Given the description of an element on the screen output the (x, y) to click on. 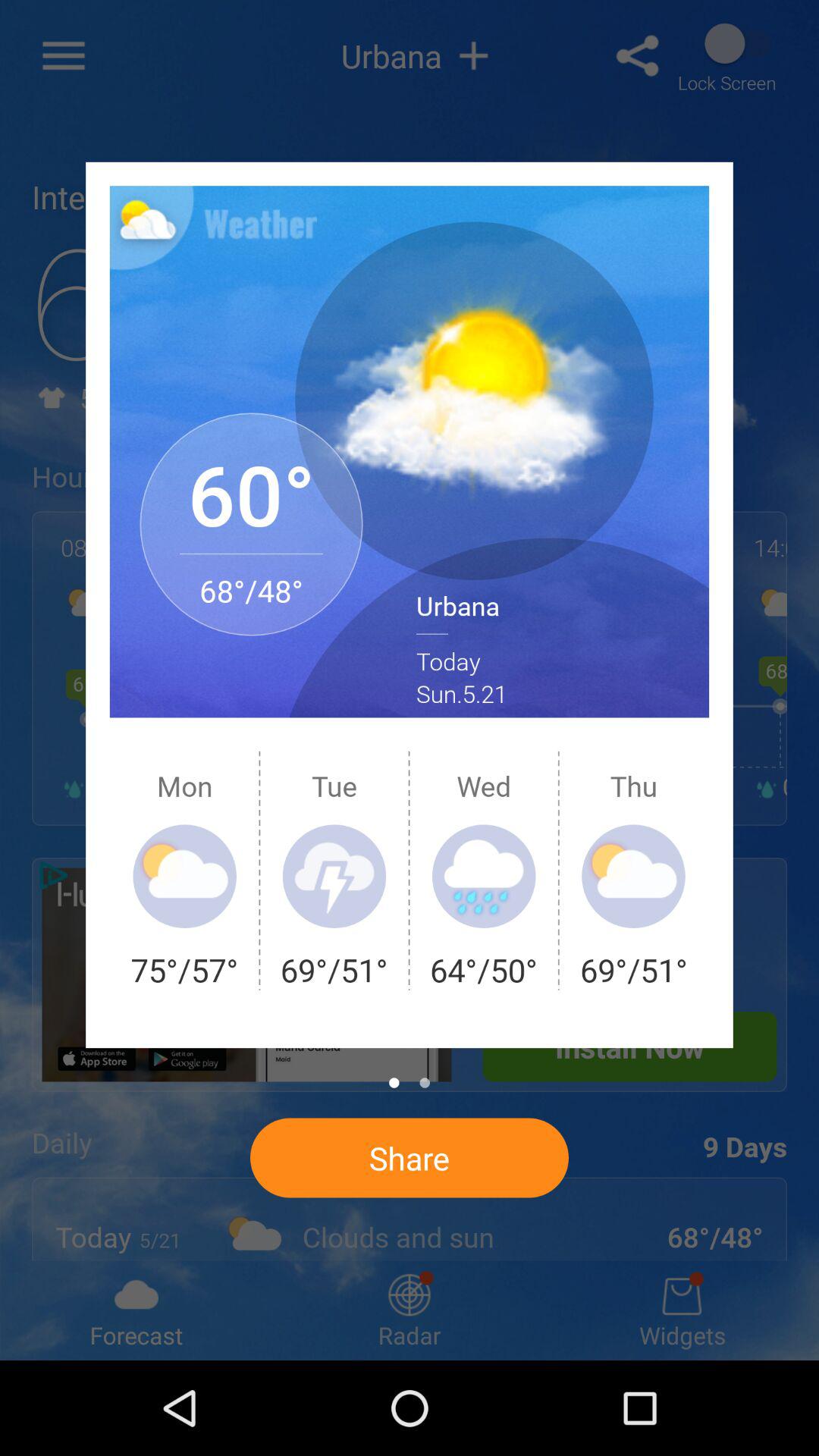
tap share (409, 1157)
